Given the description of an element on the screen output the (x, y) to click on. 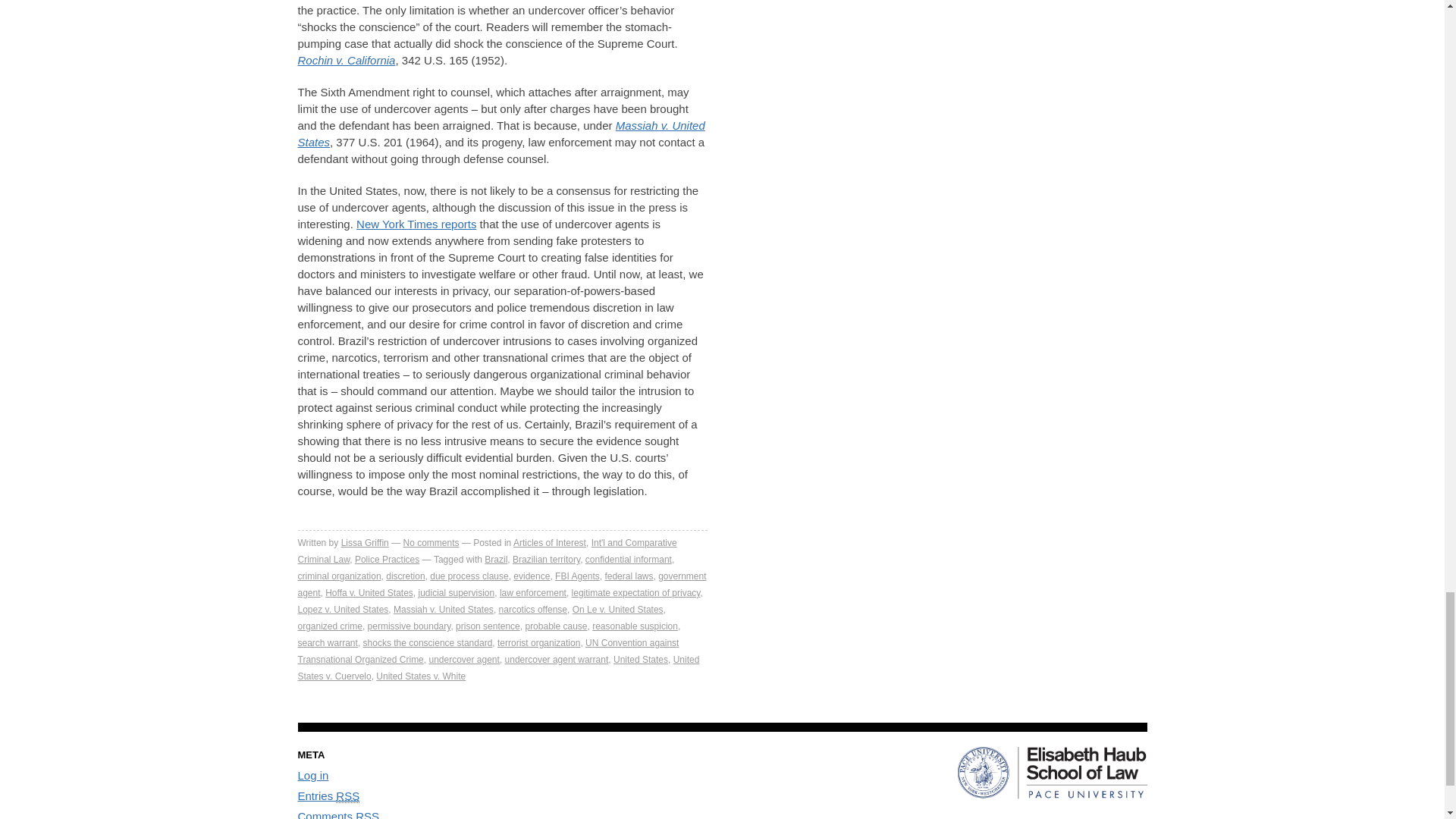
On Le v. United States (617, 609)
Hoffa v. United States (368, 593)
No comments (430, 542)
Brazil (495, 559)
Posts by Lissa Griffin (364, 542)
Lopez v. United States (342, 609)
evidence (531, 575)
discretion (405, 575)
organized crime (329, 625)
law enforcement (532, 593)
